Given the description of an element on the screen output the (x, y) to click on. 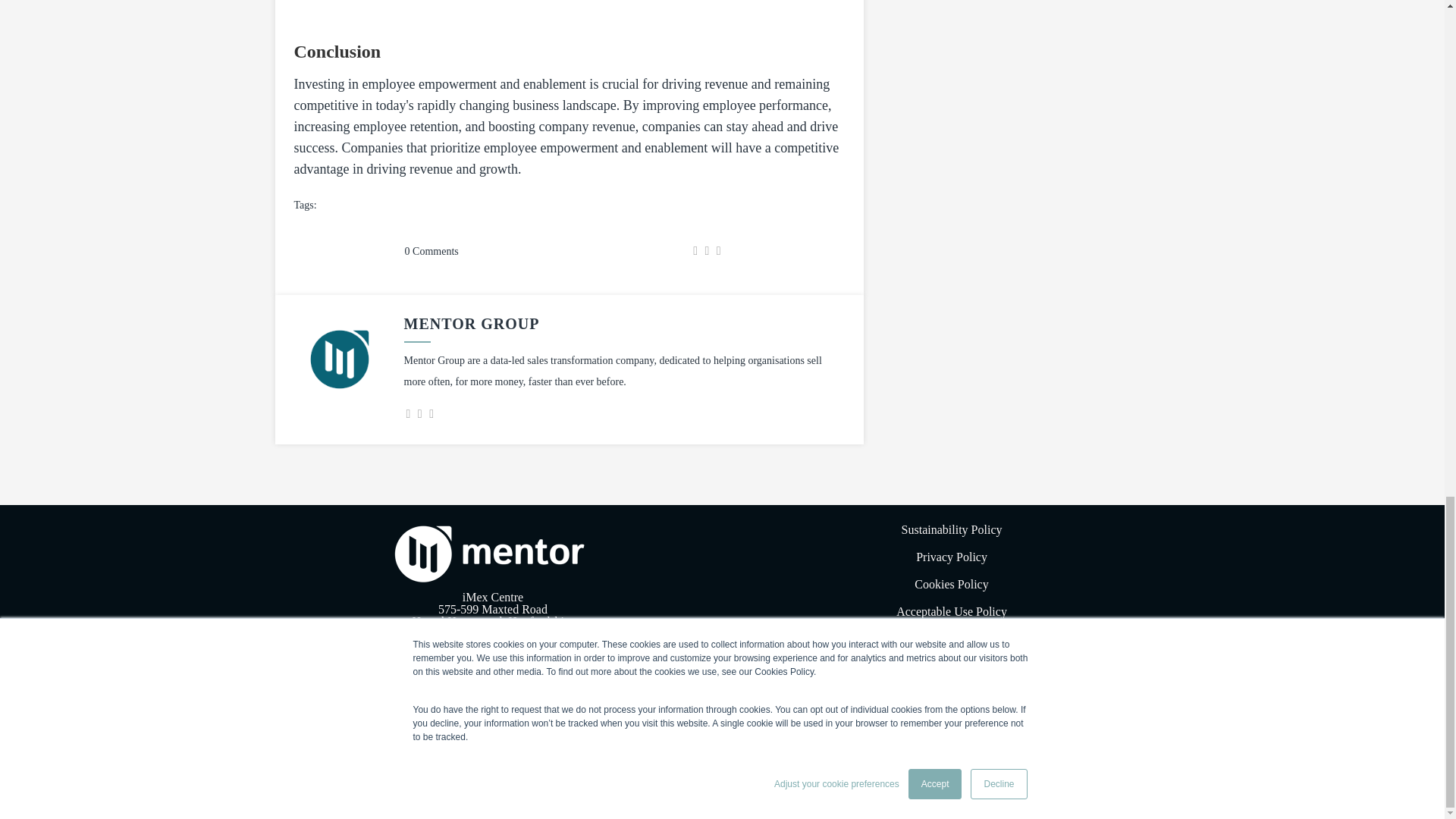
Mentor 2020 Logo White H-01-1 (492, 554)
27001 RGB White Small (952, 694)
MENTOR GROUP (470, 323)
